Given the description of an element on the screen output the (x, y) to click on. 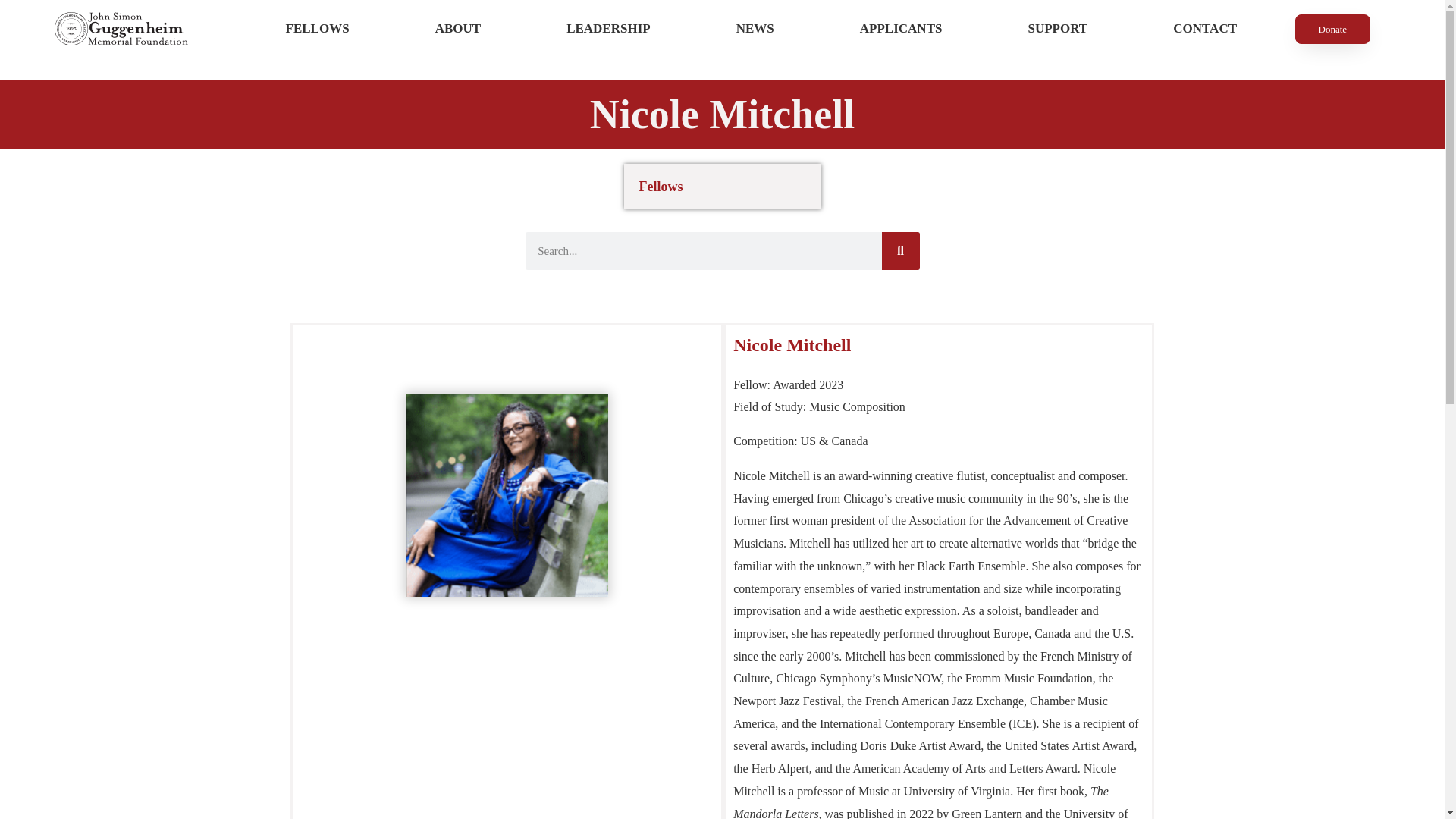
CONTACT (1205, 28)
NEWS (754, 28)
APPLICANTS (900, 28)
FELLOWS (317, 28)
LEADERSHIP (609, 28)
ABOUT (457, 28)
SUPPORT (1058, 28)
